Given the description of an element on the screen output the (x, y) to click on. 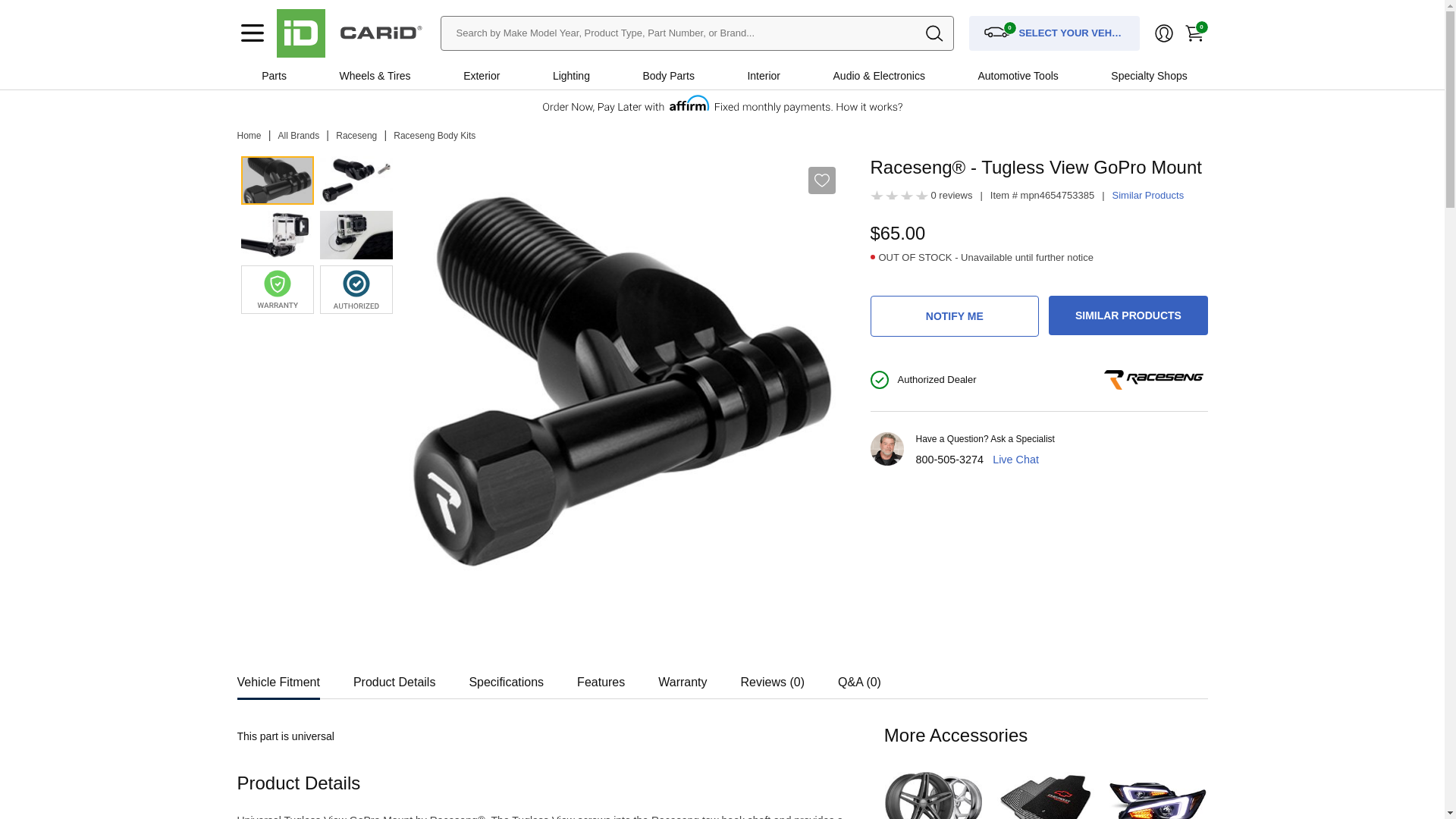
Warranty (682, 677)
Exterior (480, 75)
Raceseng (356, 135)
Interior (763, 75)
800-505-3274 (949, 459)
Features (600, 677)
Tires (398, 75)
NOTIFY ME (954, 315)
Specifications (505, 677)
Product Details (394, 677)
Wheels (356, 75)
Specifications (505, 677)
All Brands (299, 135)
Vehicle Fitment (276, 677)
Product Details (394, 677)
